Given the description of an element on the screen output the (x, y) to click on. 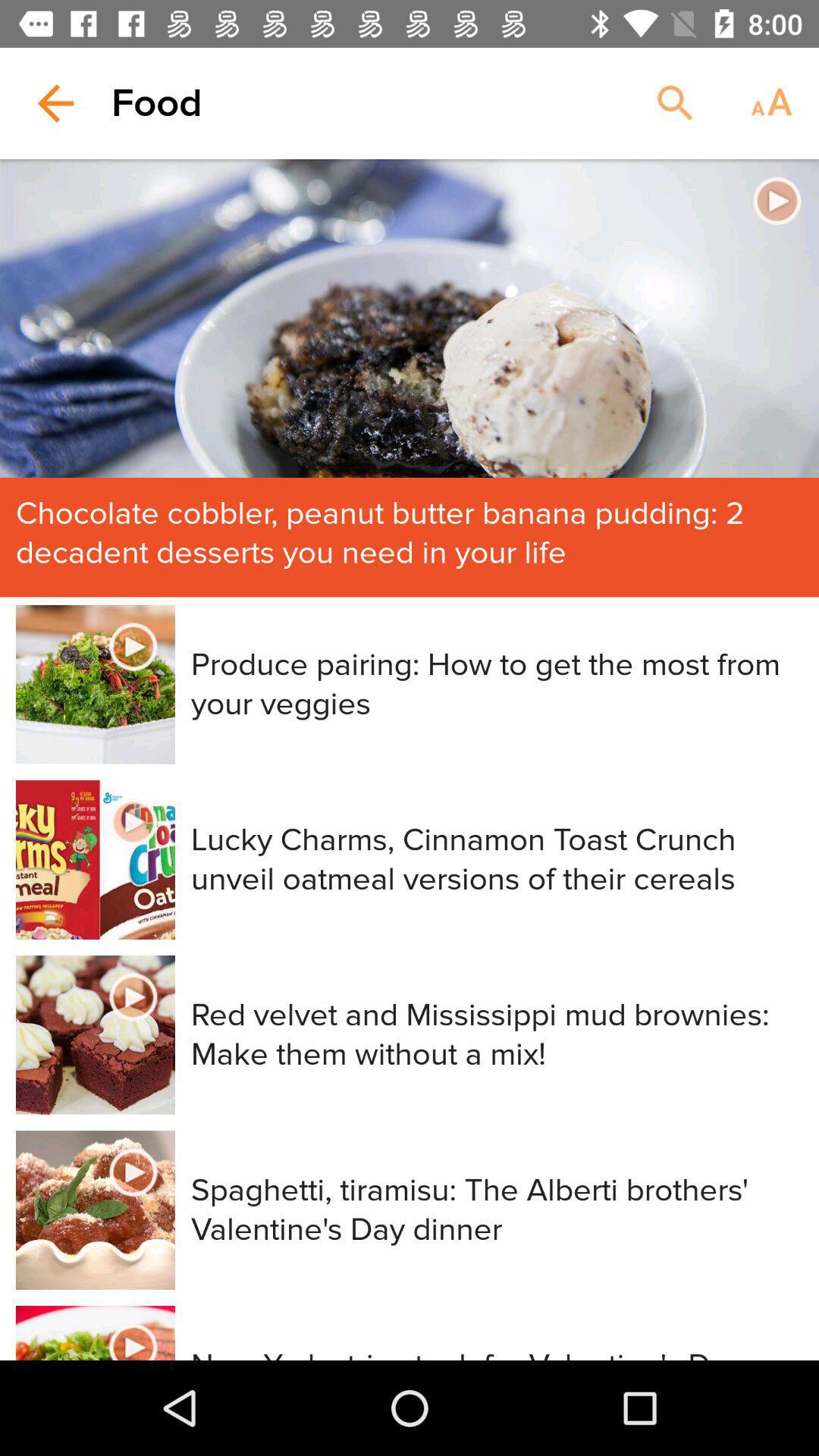
select item to the left of the food item (55, 103)
